Given the description of an element on the screen output the (x, y) to click on. 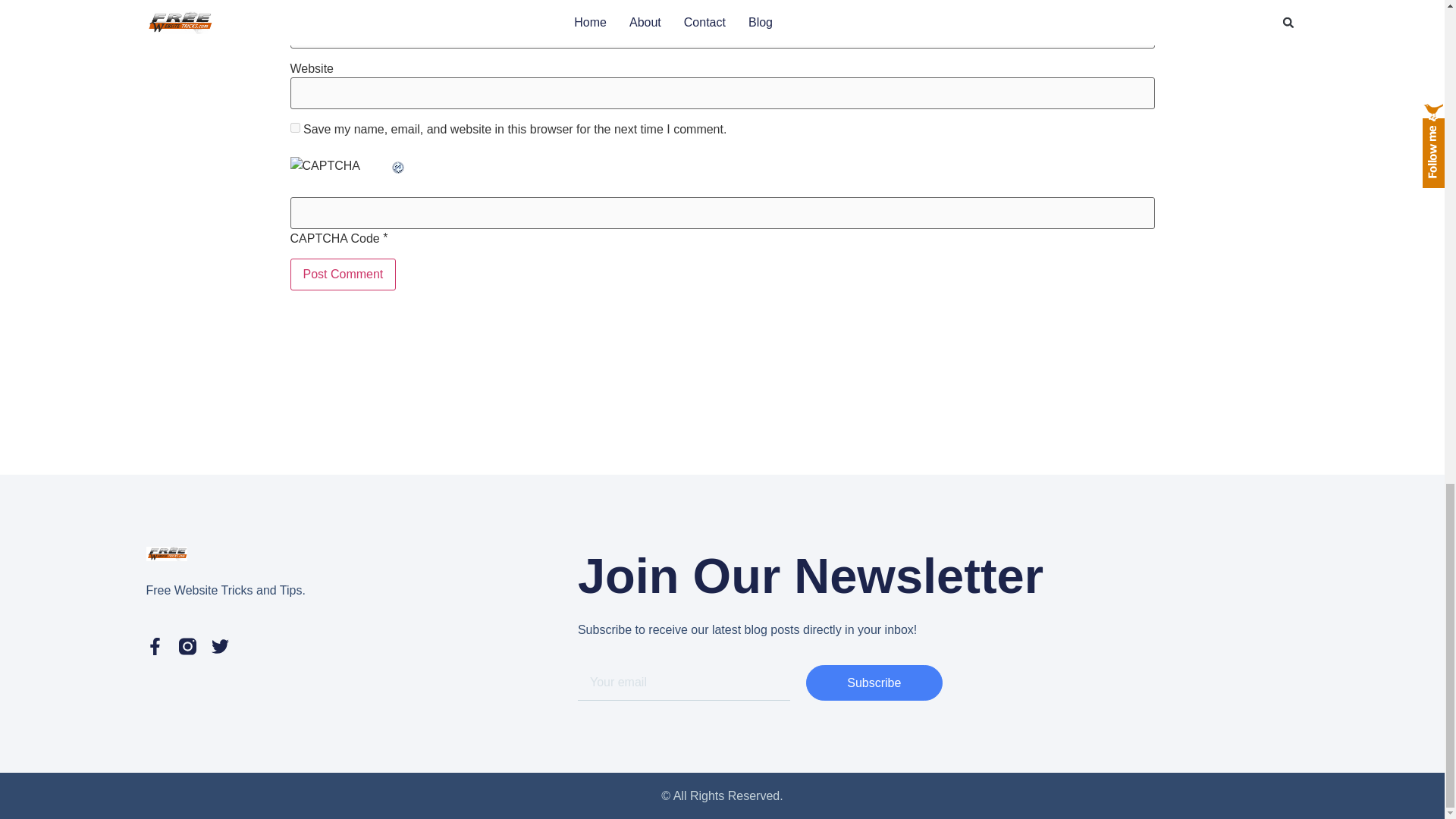
Refresh (398, 164)
Post Comment (342, 274)
CAPTCHA (339, 173)
yes (294, 127)
